Given the description of an element on the screen output the (x, y) to click on. 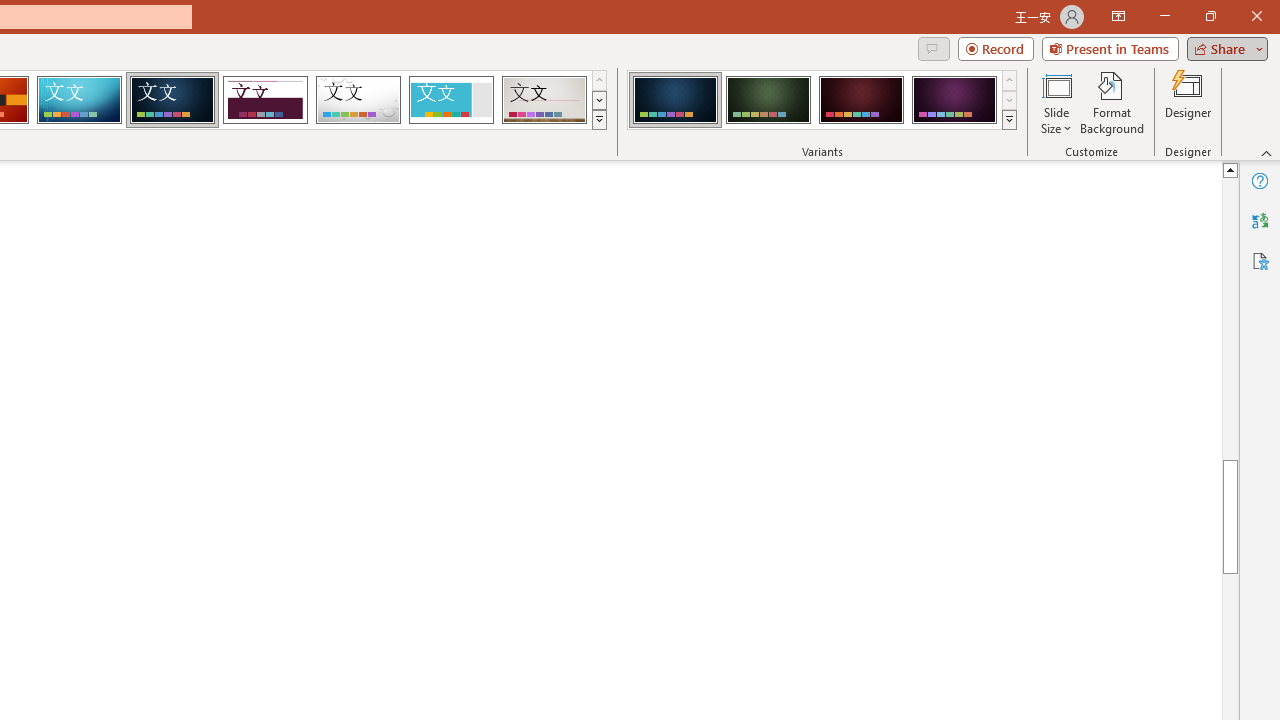
Damask Variant 2 (768, 100)
Dividend (265, 100)
Frame (450, 100)
Slide Size (1056, 102)
Damask (171, 100)
Gallery (544, 100)
AutomationID: ThemeVariantsGallery (822, 99)
Damask Variant 1 (674, 100)
